Given the description of an element on the screen output the (x, y) to click on. 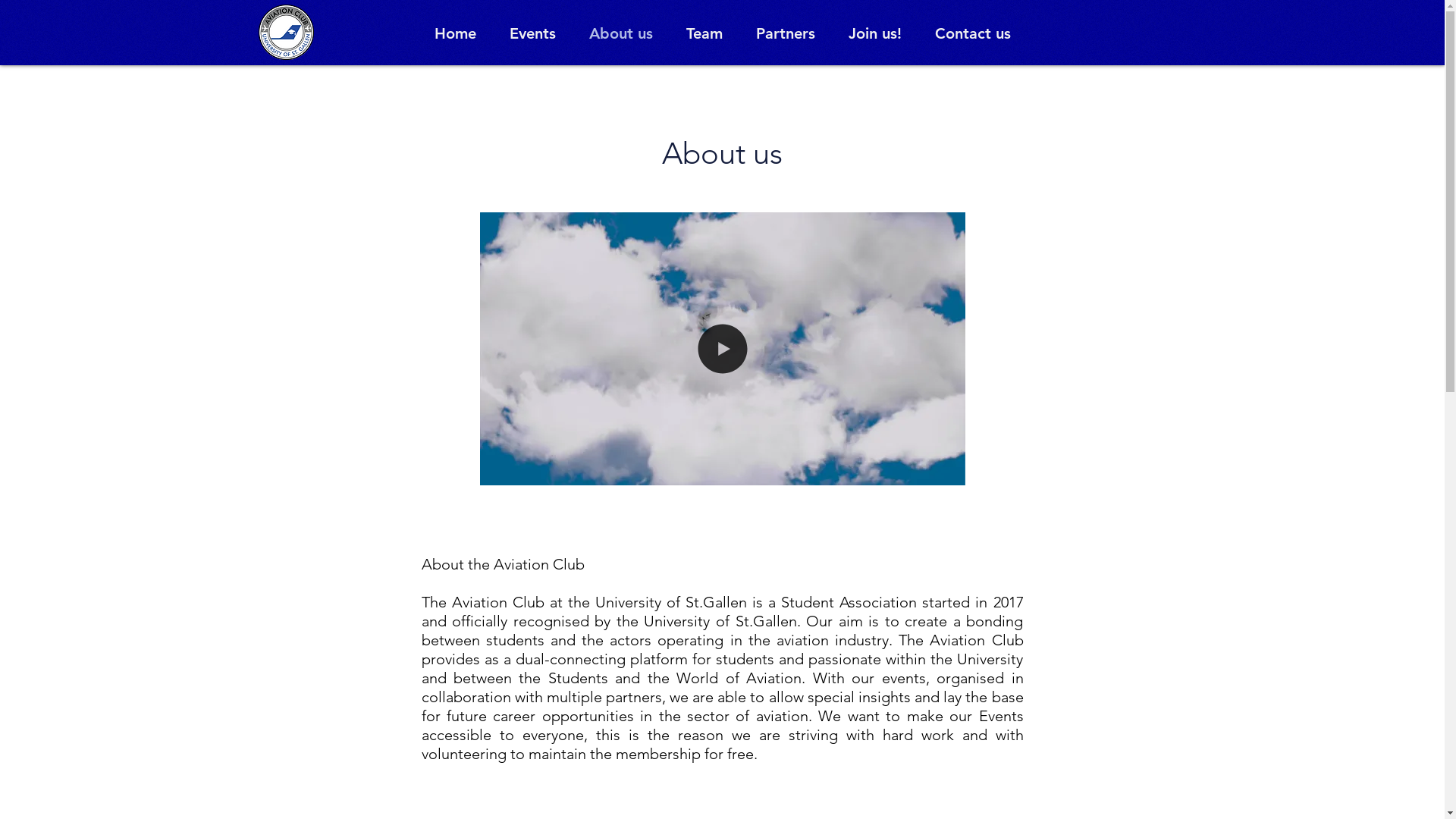
Join us! Element type: text (874, 33)
Home Element type: text (454, 33)
Events Element type: text (532, 33)
About us Element type: text (620, 33)
Team Element type: text (704, 33)
Contact us Element type: text (972, 33)
Partners Element type: text (785, 33)
